Given the description of an element on the screen output the (x, y) to click on. 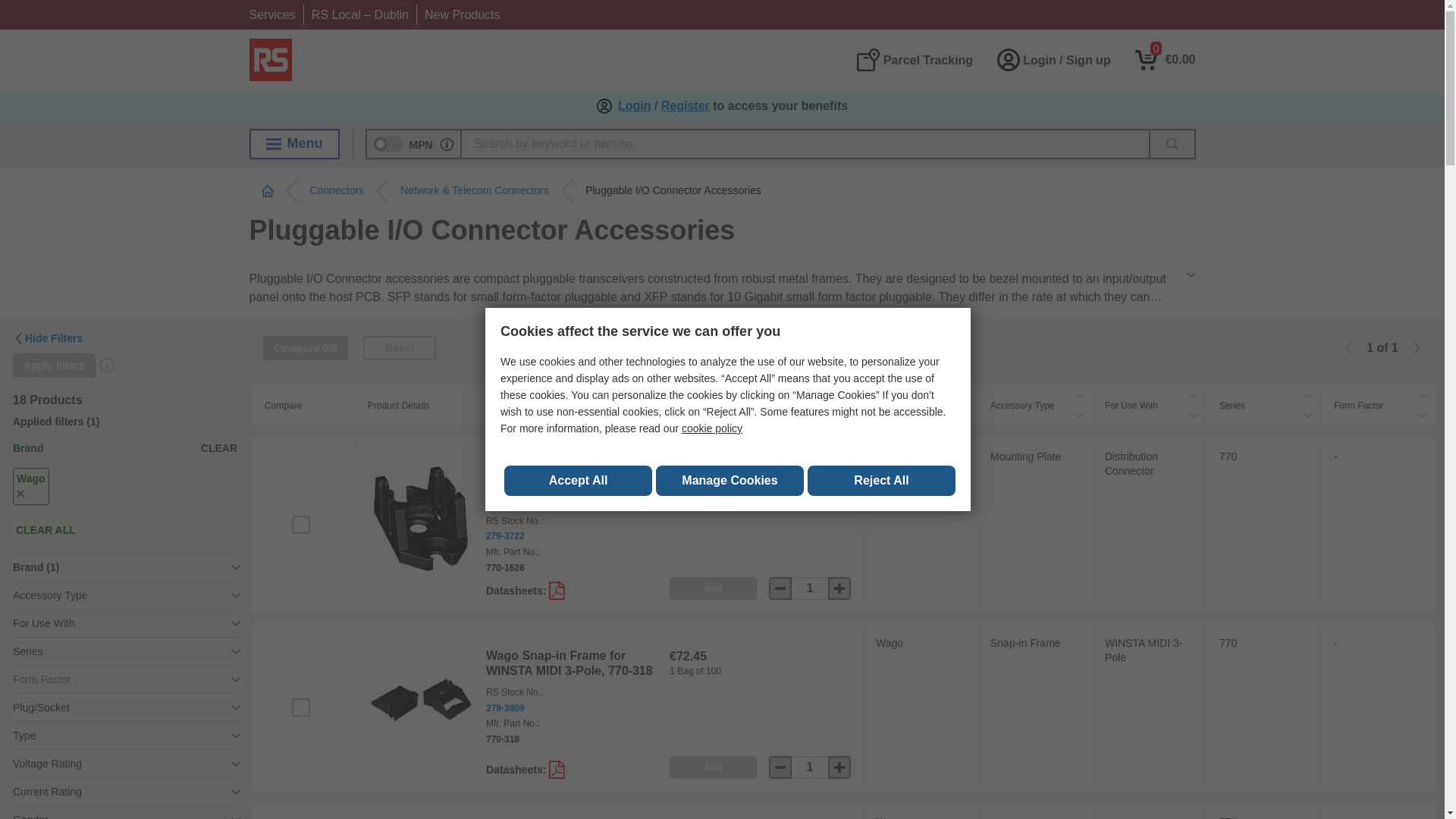
Register (685, 105)
on (299, 524)
Services (271, 14)
Sort ascending (964, 395)
New Products (462, 14)
Sort ascending (1193, 395)
1 (810, 766)
Sort ascending (1307, 395)
1 (810, 588)
Sort ascending (1078, 395)
Sort descending (1078, 415)
Menu (293, 143)
Sort descending (964, 415)
on (299, 707)
Sort ascending (850, 395)
